Given the description of an element on the screen output the (x, y) to click on. 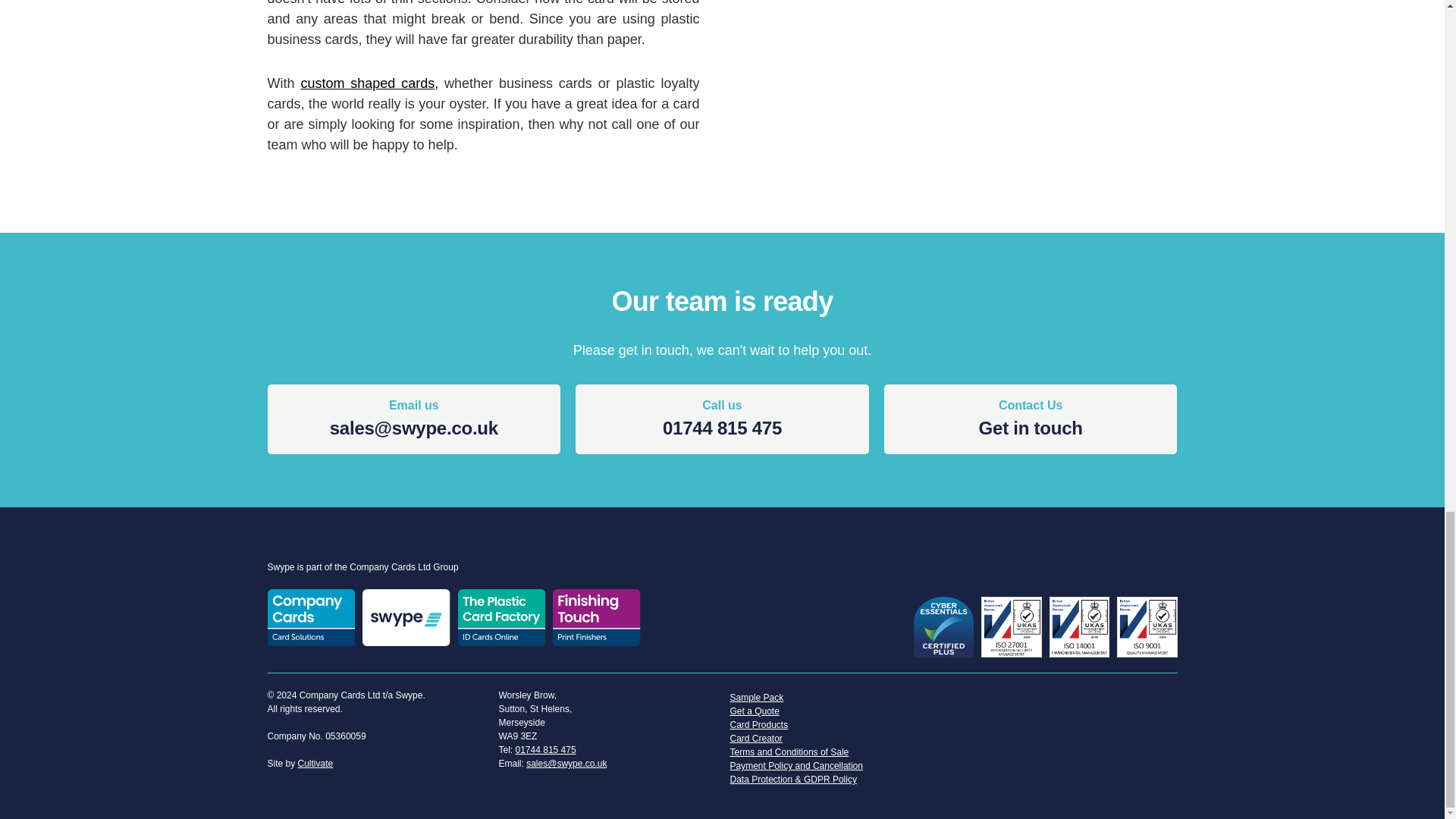
Payment Policy and Cancellation (836, 766)
Card Products (1031, 420)
Card Creator (836, 725)
custom shaped cards, (836, 738)
Terms and Conditions of Sale (368, 83)
Cultivate (836, 752)
Web development St Helens (315, 763)
Sample Pack (315, 763)
01744 815 475 (722, 420)
Get a Quote (836, 697)
